Given the description of an element on the screen output the (x, y) to click on. 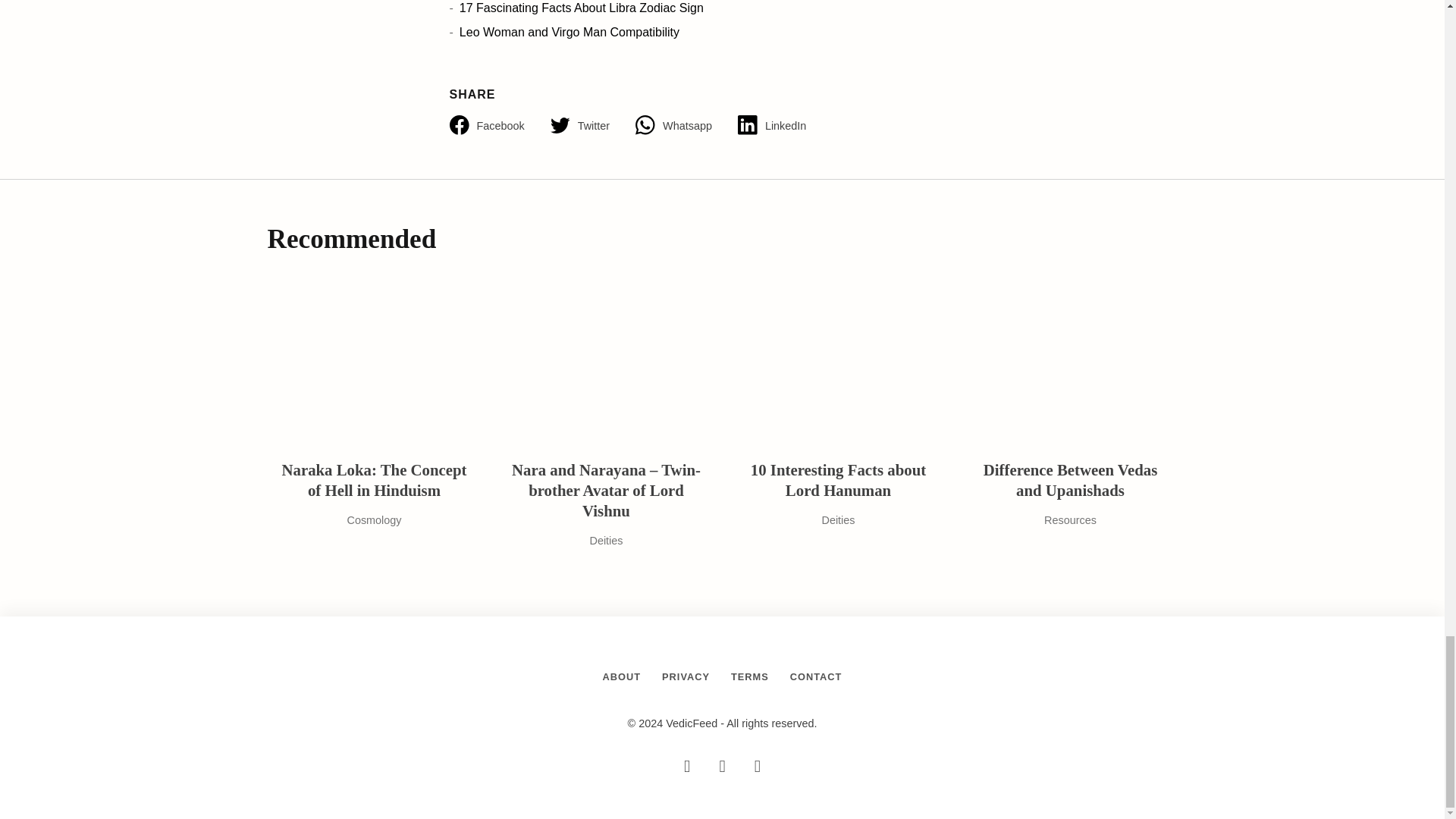
Share on Facebook (499, 125)
Share on Whatsapp (686, 125)
Tweet on Twitter (592, 125)
Share on LinkedIn (784, 125)
